Given the description of an element on the screen output the (x, y) to click on. 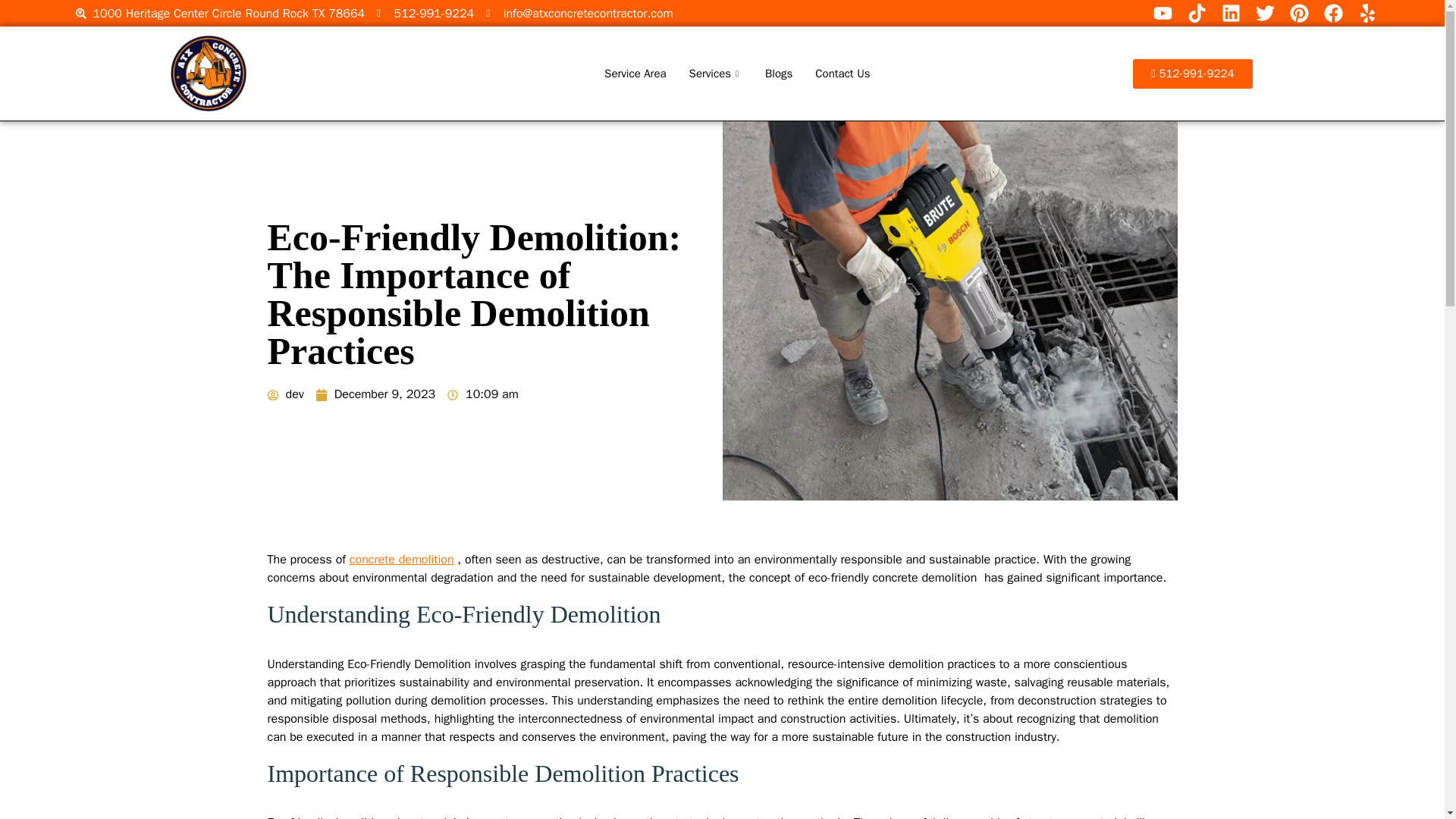
Services (716, 73)
1000 Heritage Center Circle Round Rock TX 78664 (220, 13)
Service Area (634, 73)
Contact Us (841, 73)
512-991-9224 (425, 13)
